Given the description of an element on the screen output the (x, y) to click on. 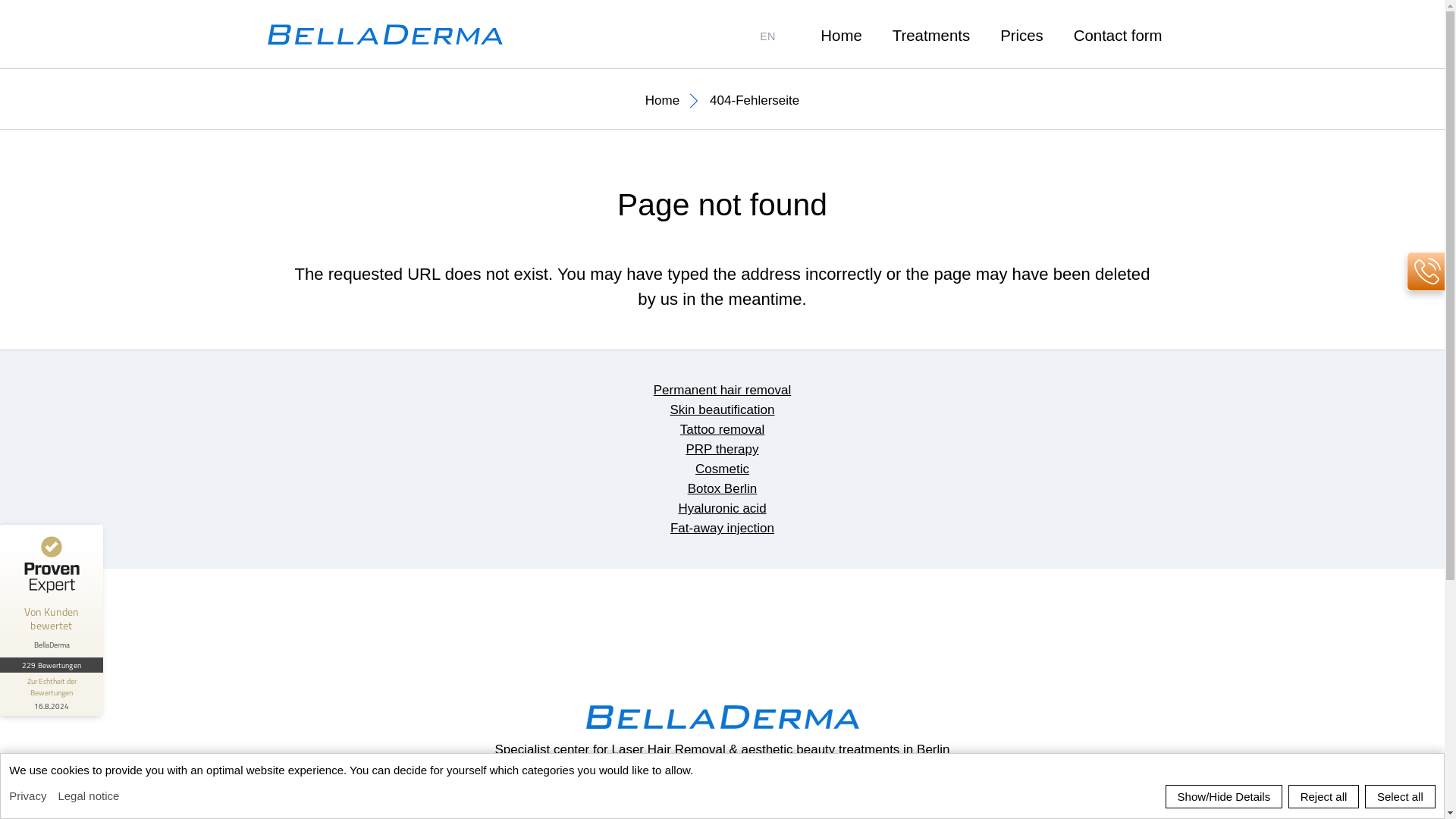
Zur Echtheit der Bewertungen (51, 693)
Home (841, 35)
Vorherige Kundenstimme (213, 628)
Treatments (930, 35)
